Given the description of an element on the screen output the (x, y) to click on. 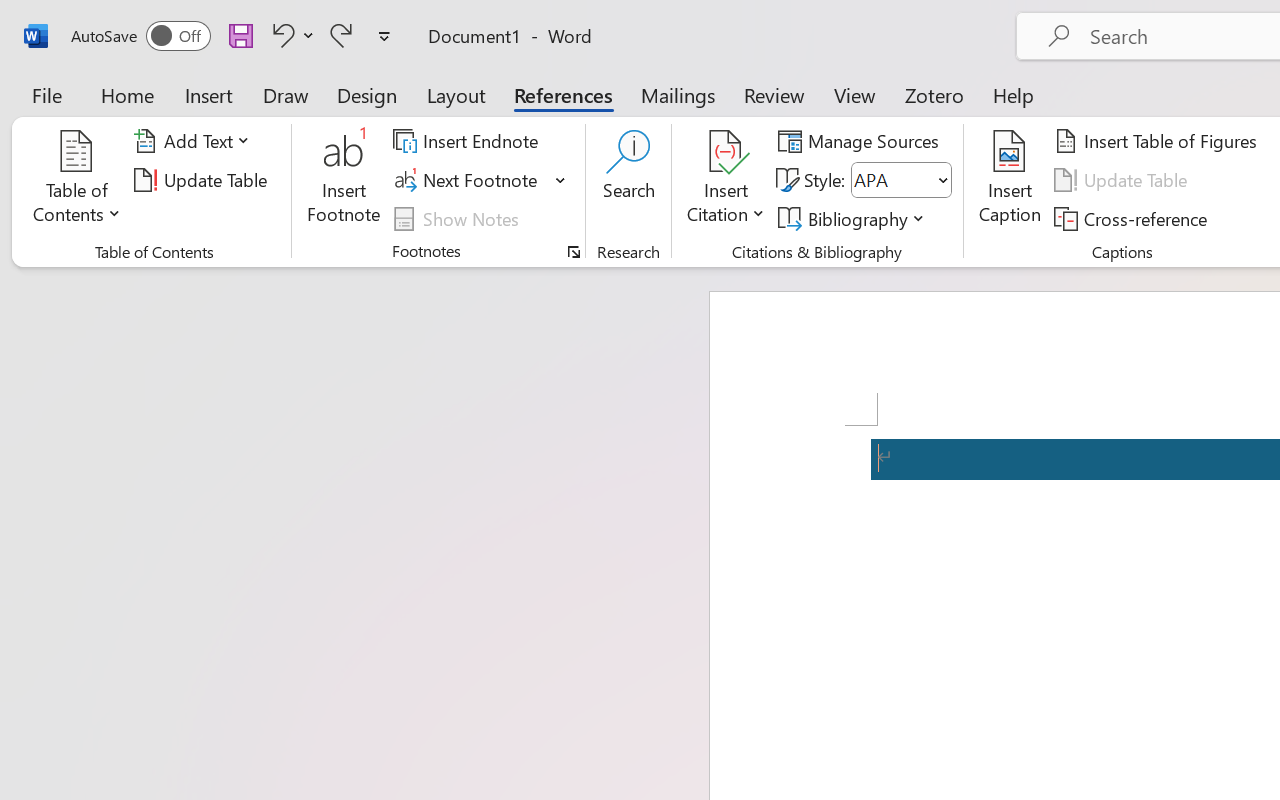
Add Text (195, 141)
Undo Apply Quick Style Set (290, 35)
Insert Footnote (344, 179)
Insert Citation (726, 179)
Show Notes (459, 218)
Cross-reference... (1133, 218)
Insert Endnote (468, 141)
Insert Caption... (1009, 180)
Style (901, 179)
